Given the description of an element on the screen output the (x, y) to click on. 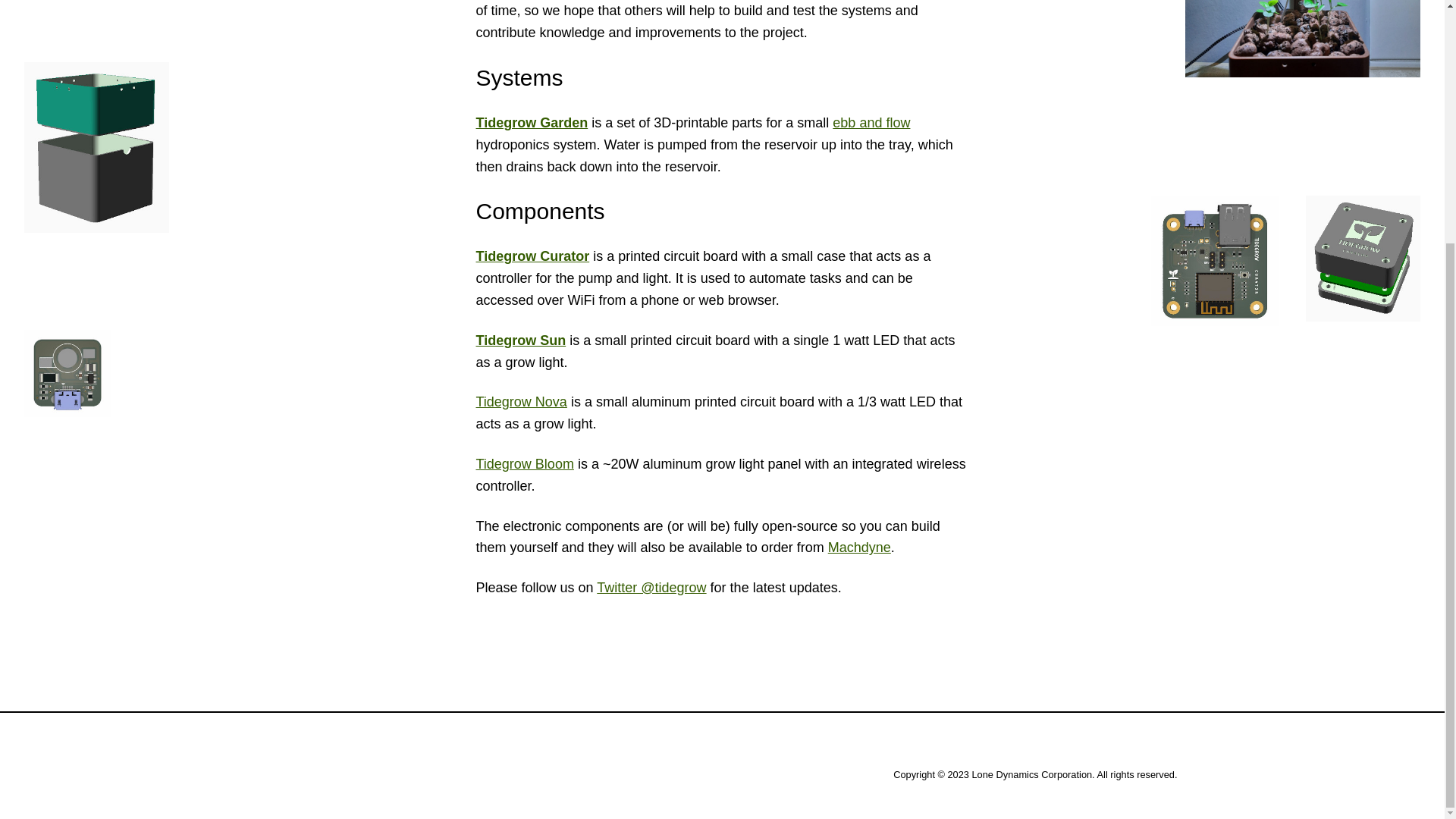
Tidegrow Curator (532, 255)
Tidegrow Garden (532, 122)
Tidegrow Sun (521, 340)
Machdyne (859, 547)
Tidegrow Bloom (524, 463)
Tidegrow Nova (521, 401)
ebb and flow (871, 122)
